Given the description of an element on the screen output the (x, y) to click on. 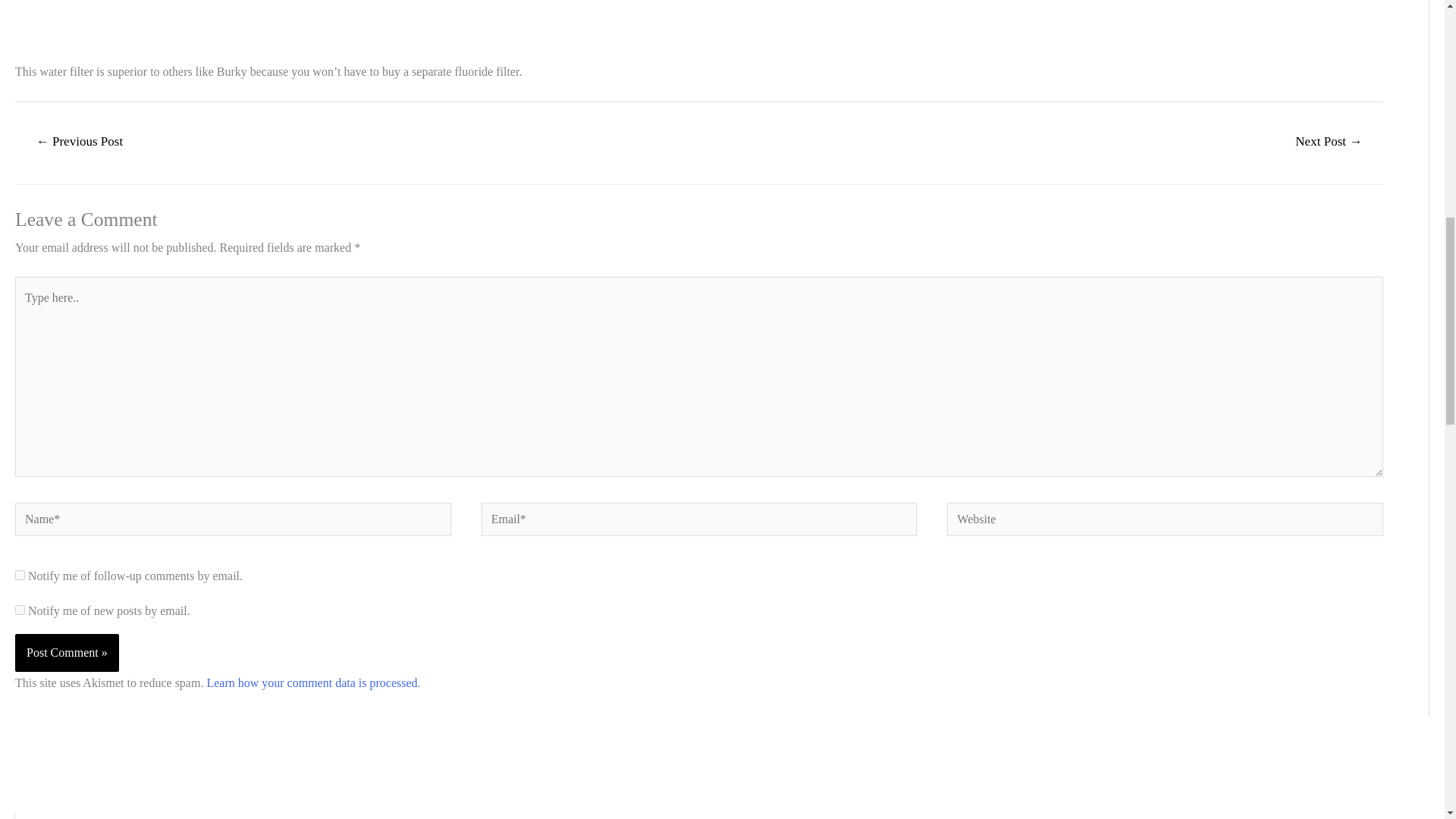
Learn how your comment data is processed (311, 682)
subscribe (19, 574)
subscribe (19, 610)
